Given the description of an element on the screen output the (x, y) to click on. 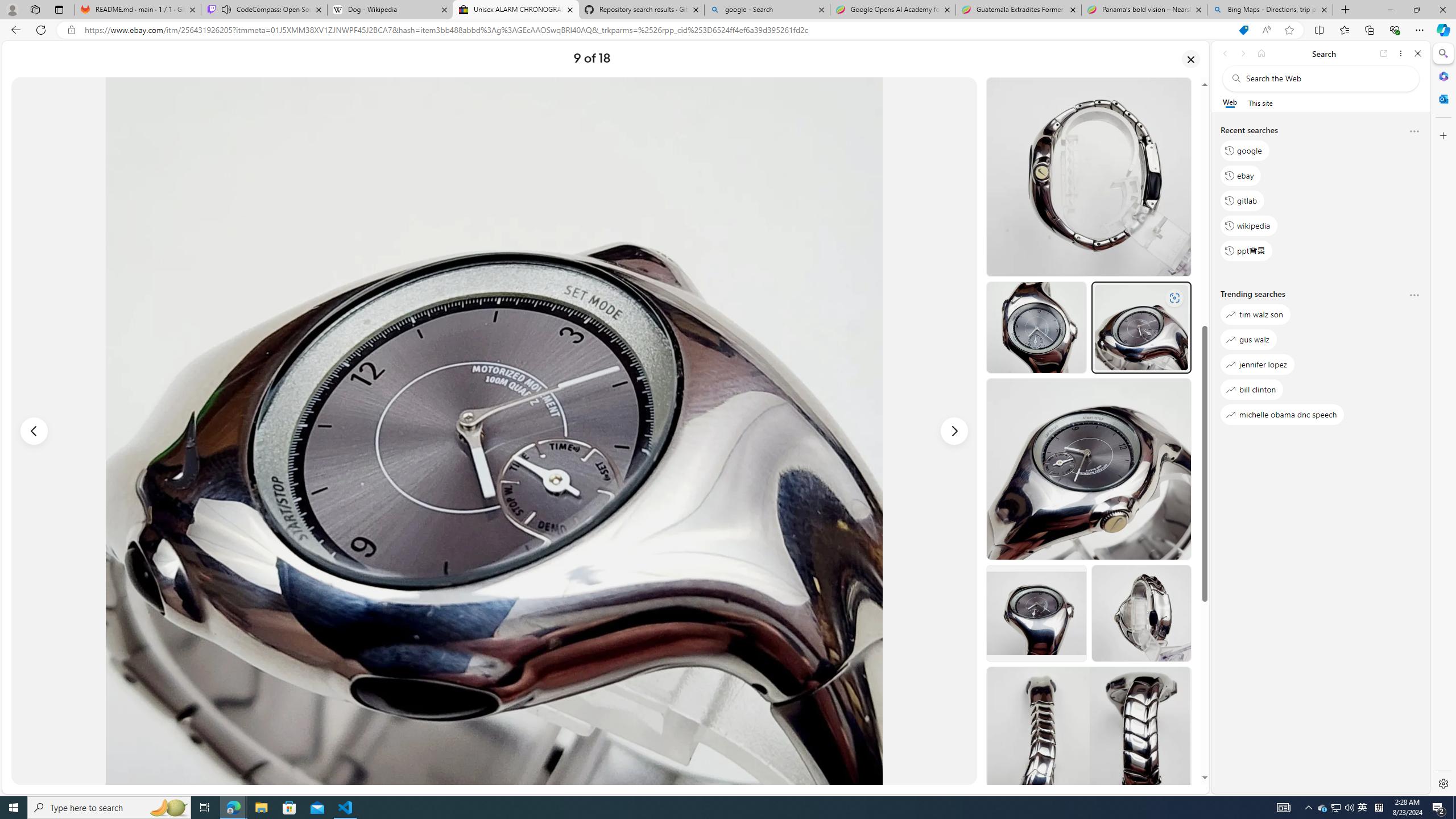
Close image gallery dialog (1190, 58)
Picture 9 of 18 (493, 430)
gus walz (1248, 339)
